Given the description of an element on the screen output the (x, y) to click on. 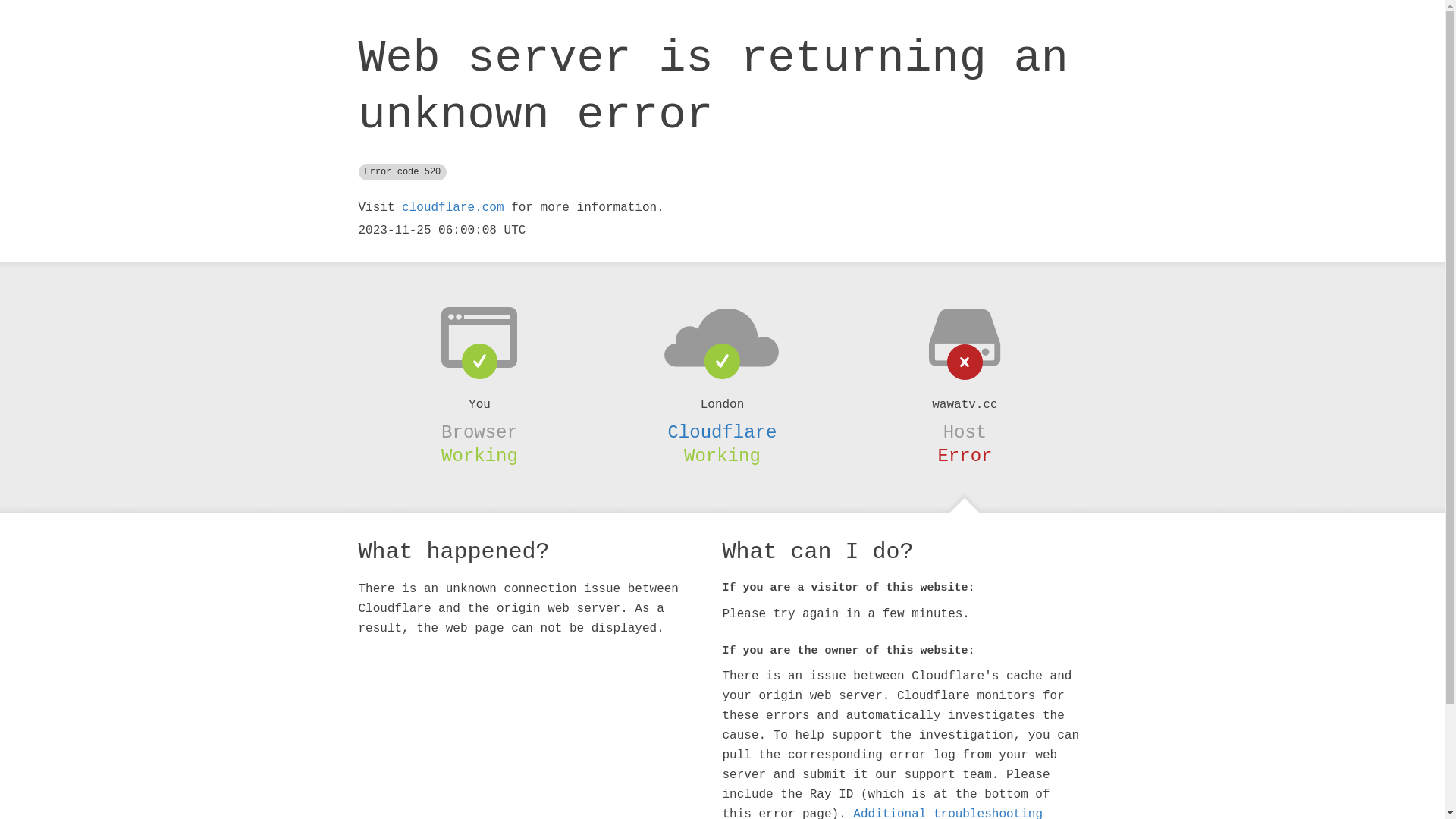
Cloudflare Element type: text (721, 432)
cloudflare.com Element type: text (452, 207)
